Given the description of an element on the screen output the (x, y) to click on. 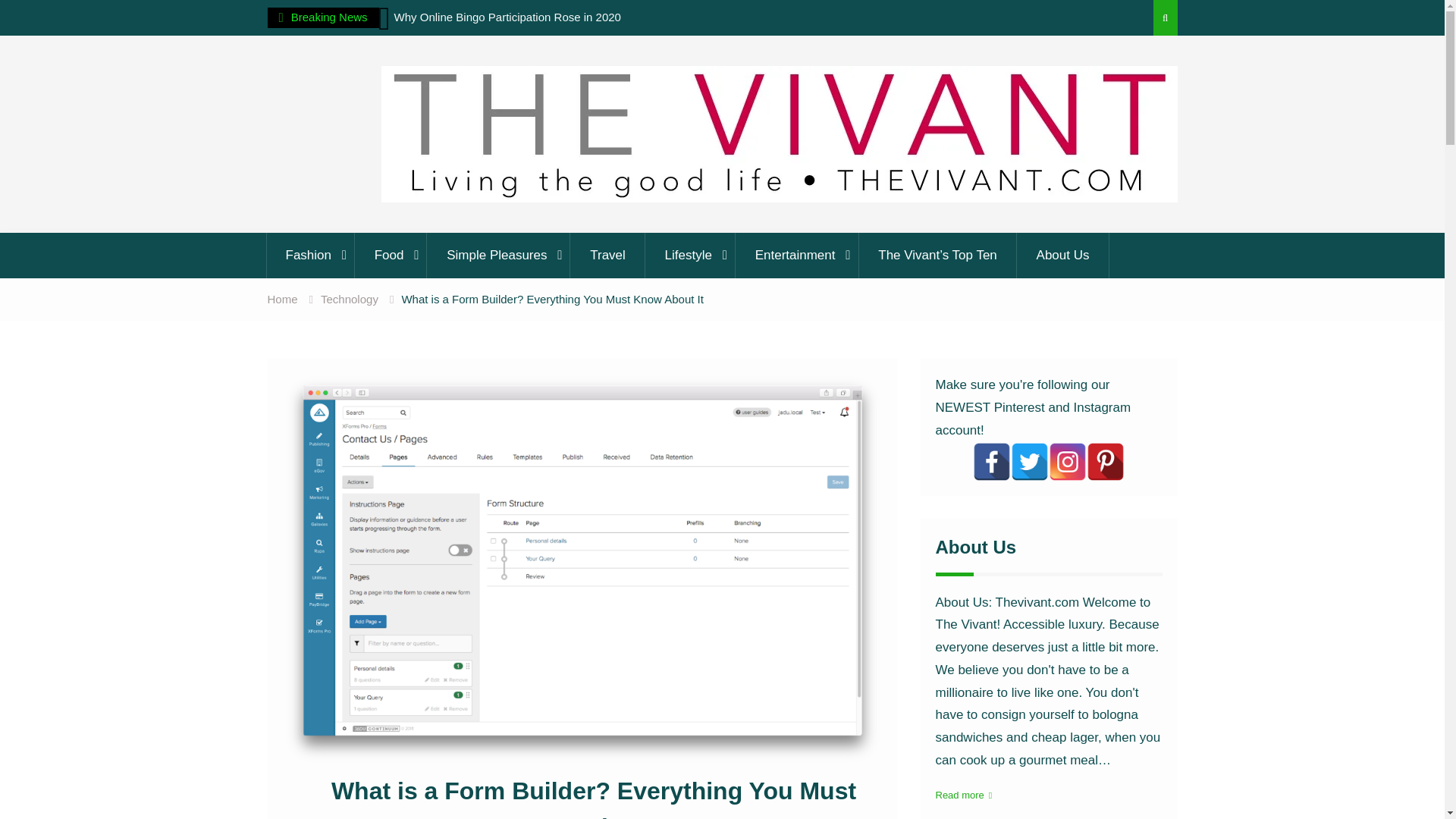
Why Online Bingo Participation Rose in 2020 (507, 17)
Food (391, 255)
Fashion (308, 255)
Different Style Tips to Always be well Dressed in the Office (243, 27)
Twitter (1029, 461)
Pinterest (1105, 461)
Facebook (991, 461)
Instagram (1067, 461)
